Given the description of an element on the screen output the (x, y) to click on. 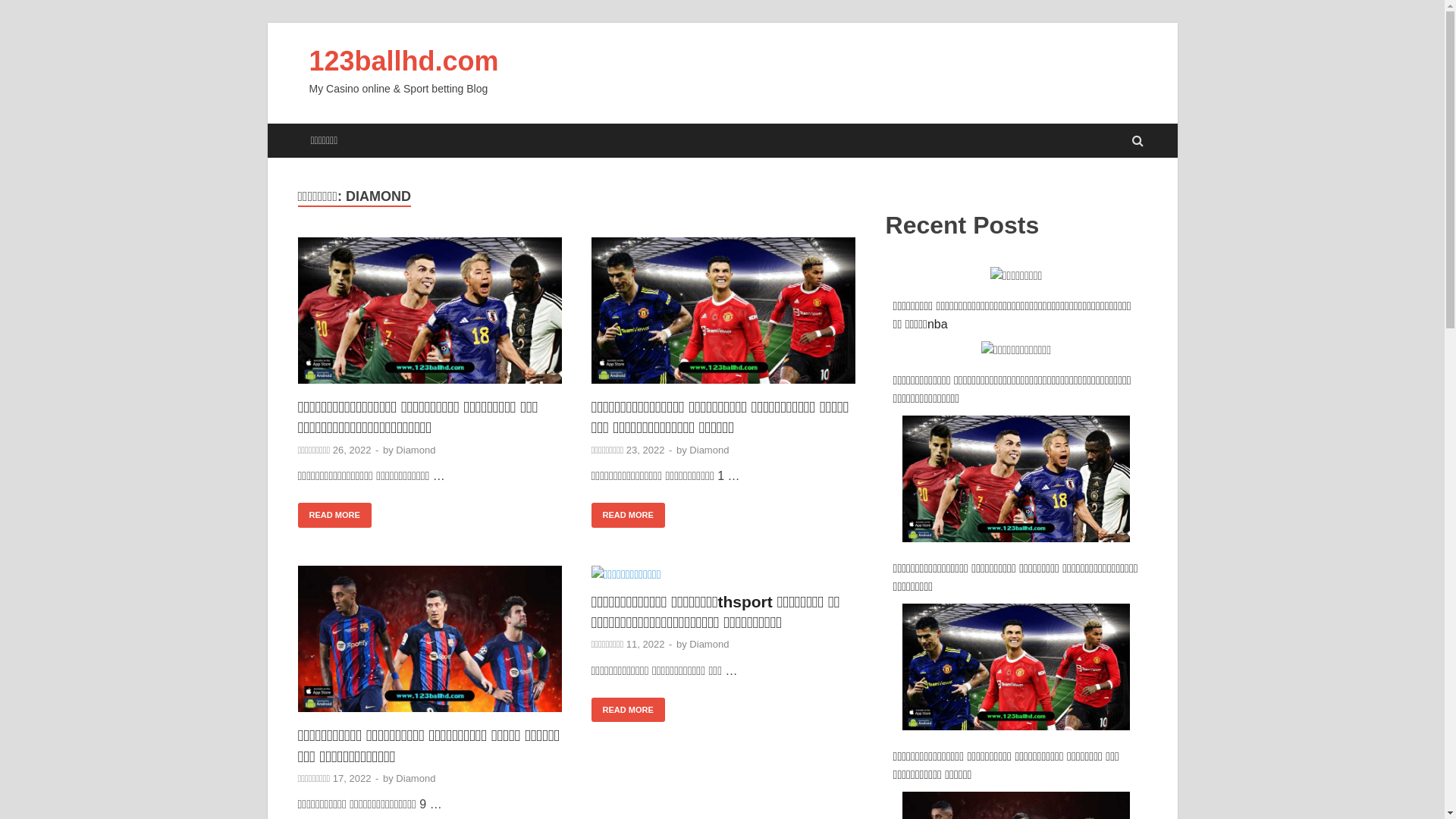
123ballhd.com Element type: text (403, 60)
READ MORE Element type: text (333, 514)
Diamond Element type: text (415, 778)
READ MORE Element type: text (628, 514)
Diamond Element type: text (708, 643)
READ MORE Element type: text (628, 709)
Diamond Element type: text (415, 449)
Diamond Element type: text (708, 449)
